Given the description of an element on the screen output the (x, y) to click on. 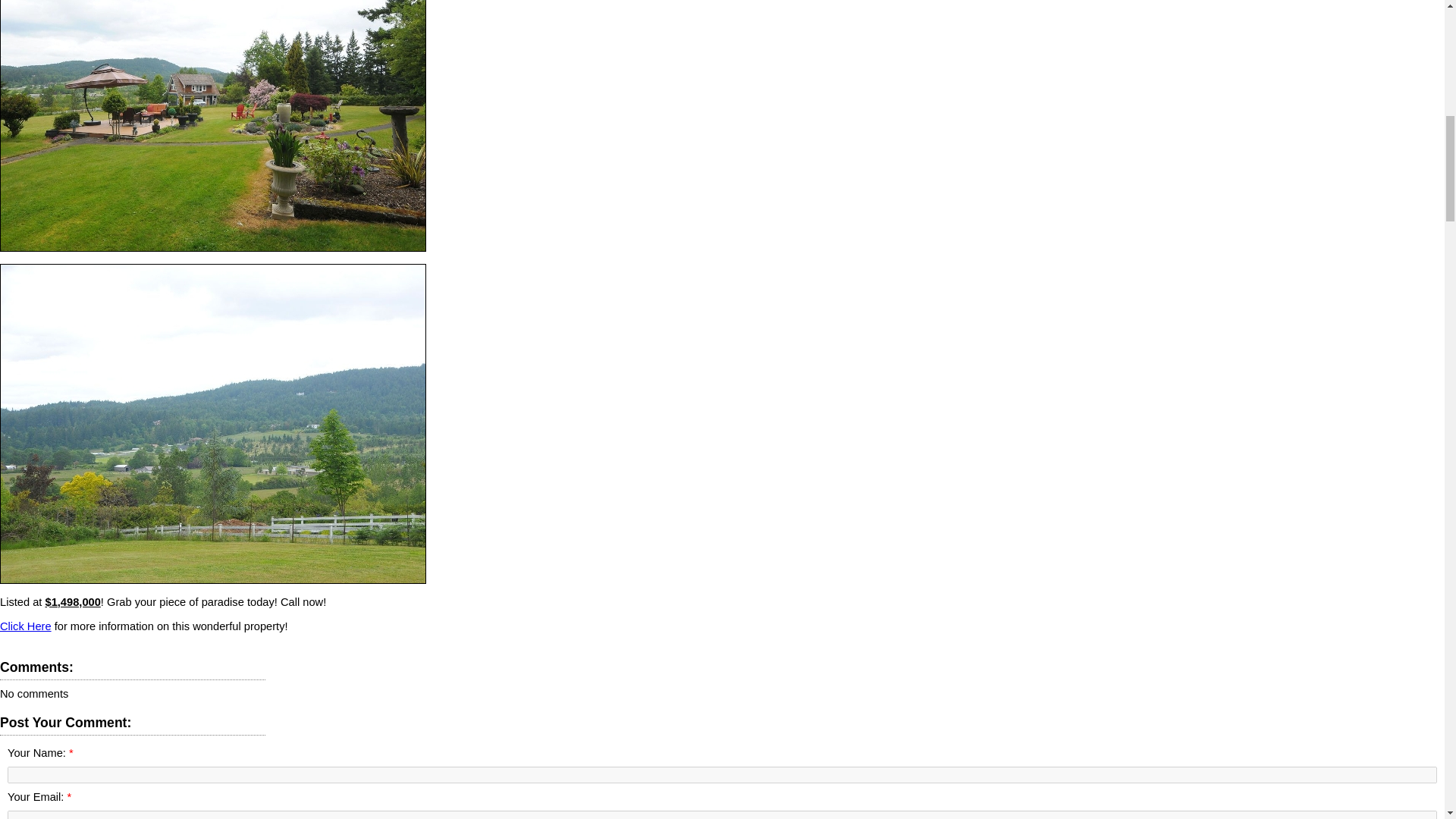
Cultra View 1 (213, 125)
